Given the description of an element on the screen output the (x, y) to click on. 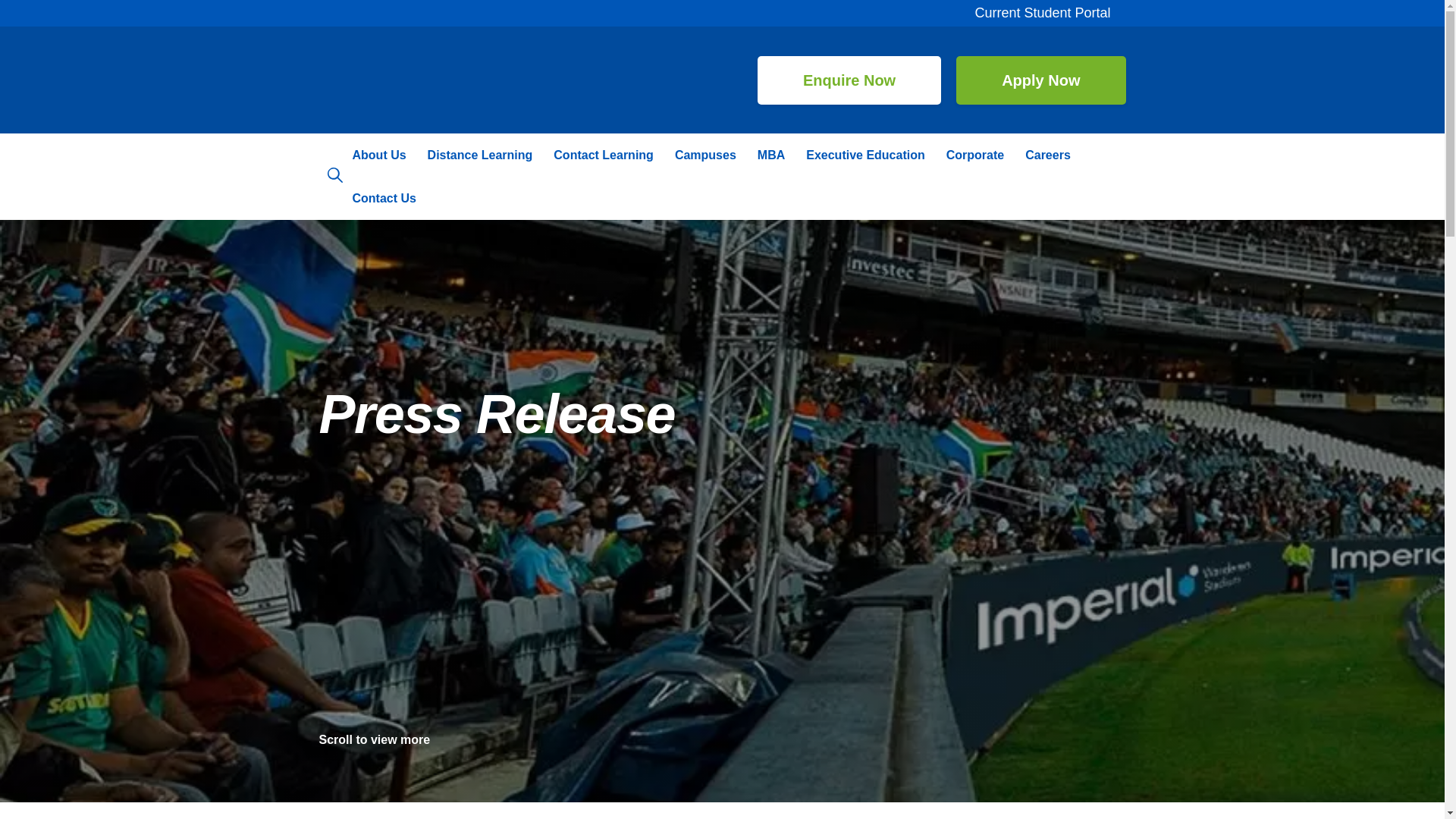
Careers (1047, 154)
Apply Now (1040, 80)
Enquire Now (848, 80)
Campuses (704, 154)
Executive Education (865, 154)
About Us (378, 154)
Contact Learning (603, 154)
Corporate (975, 154)
Contact Us (383, 198)
Distance Learning (479, 154)
Scroll to view more (383, 739)
MBA (770, 154)
